Given the description of an element on the screen output the (x, y) to click on. 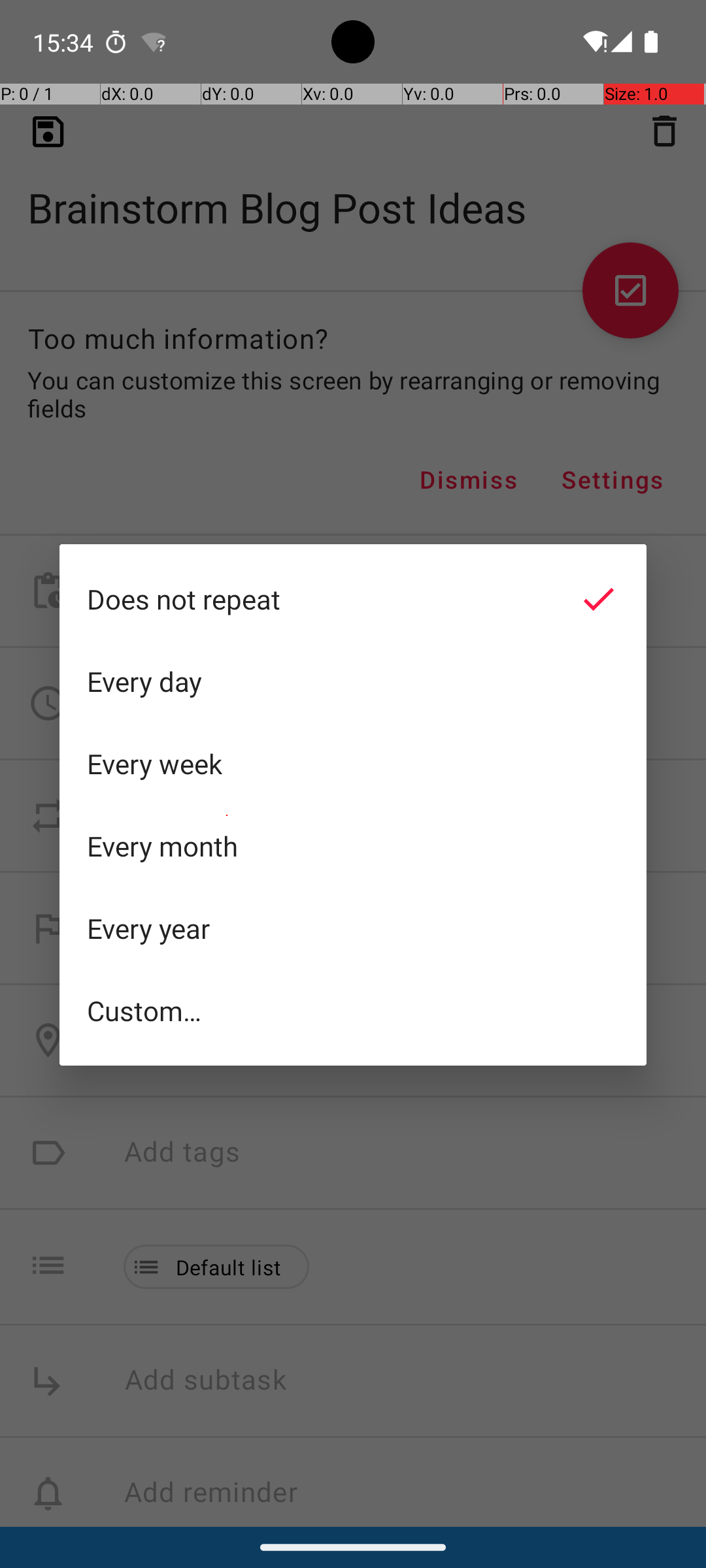
Every day Element type: android.widget.CheckedTextView (352, 681)
Every week Element type: android.widget.CheckedTextView (352, 763)
Every month Element type: android.widget.CheckedTextView (352, 845)
Every year Element type: android.widget.CheckedTextView (352, 928)
